Given the description of an element on the screen output the (x, y) to click on. 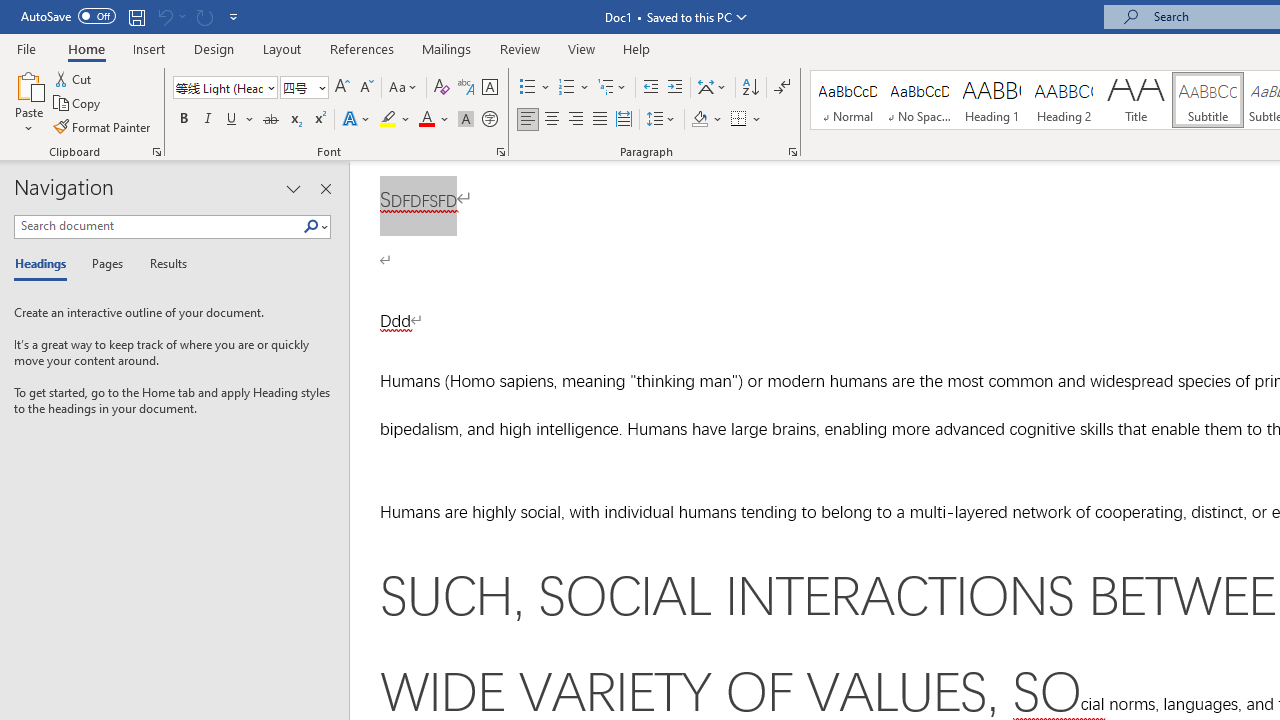
Font Color Red (426, 119)
Bullets (527, 87)
Distributed (623, 119)
Character Border (489, 87)
Shading (706, 119)
Sort... (750, 87)
Close pane (325, 188)
Help (637, 48)
Change Case (404, 87)
Copy (78, 103)
Text Effects and Typography (357, 119)
Save (136, 15)
